Given the description of an element on the screen output the (x, y) to click on. 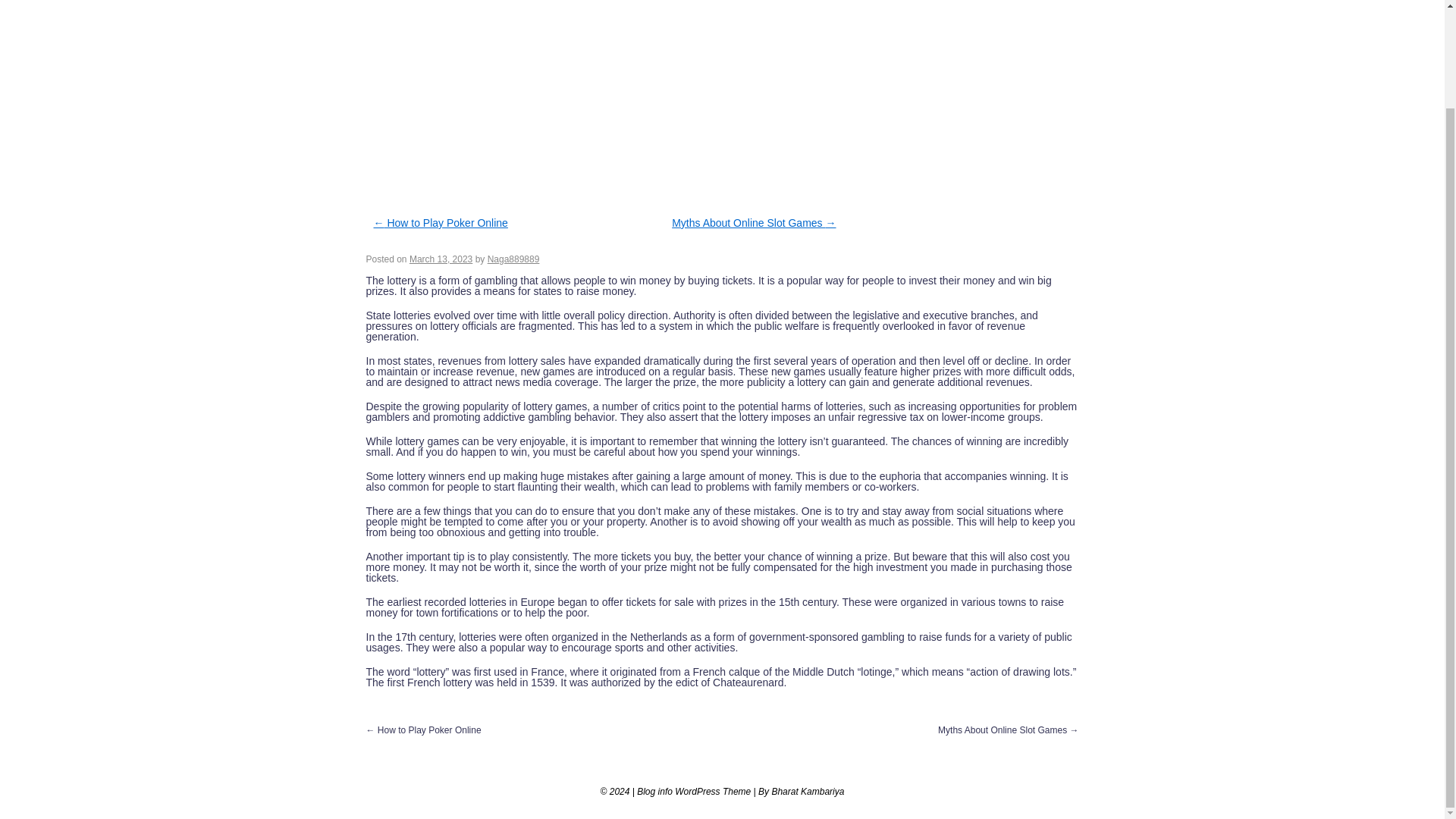
1:15 am (440, 258)
March 13, 2023 (440, 258)
Naga889889 (513, 258)
View all posts by Naga889889 (513, 258)
